Given the description of an element on the screen output the (x, y) to click on. 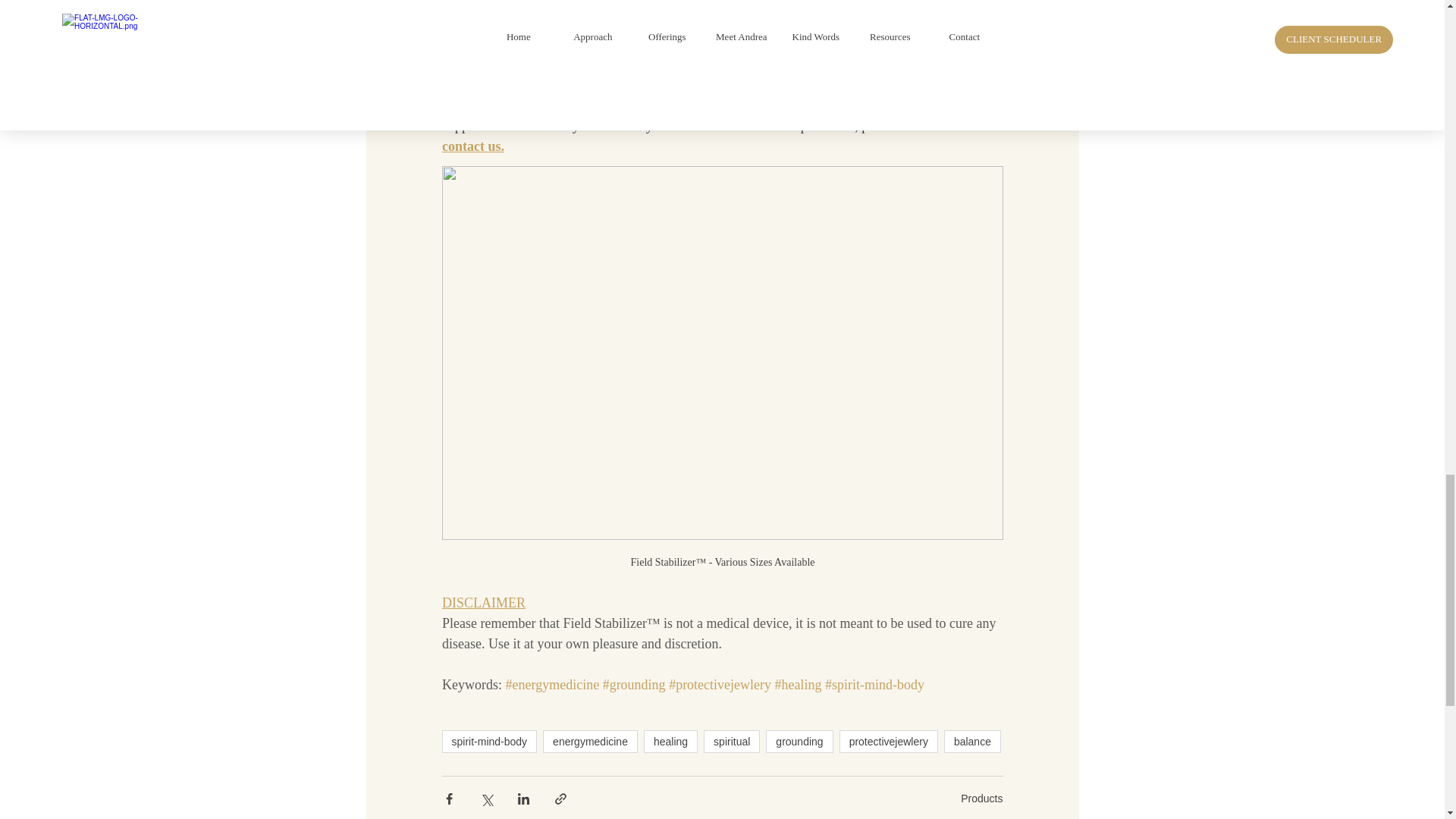
DISCLAIMER (482, 602)
contact us. (472, 145)
energymedicine (590, 741)
Products (981, 798)
spiritual (731, 741)
balance (972, 741)
healing (670, 741)
spirit-mind-body (489, 741)
protectivejewlery (888, 741)
grounding (798, 741)
